Given the description of an element on the screen output the (x, y) to click on. 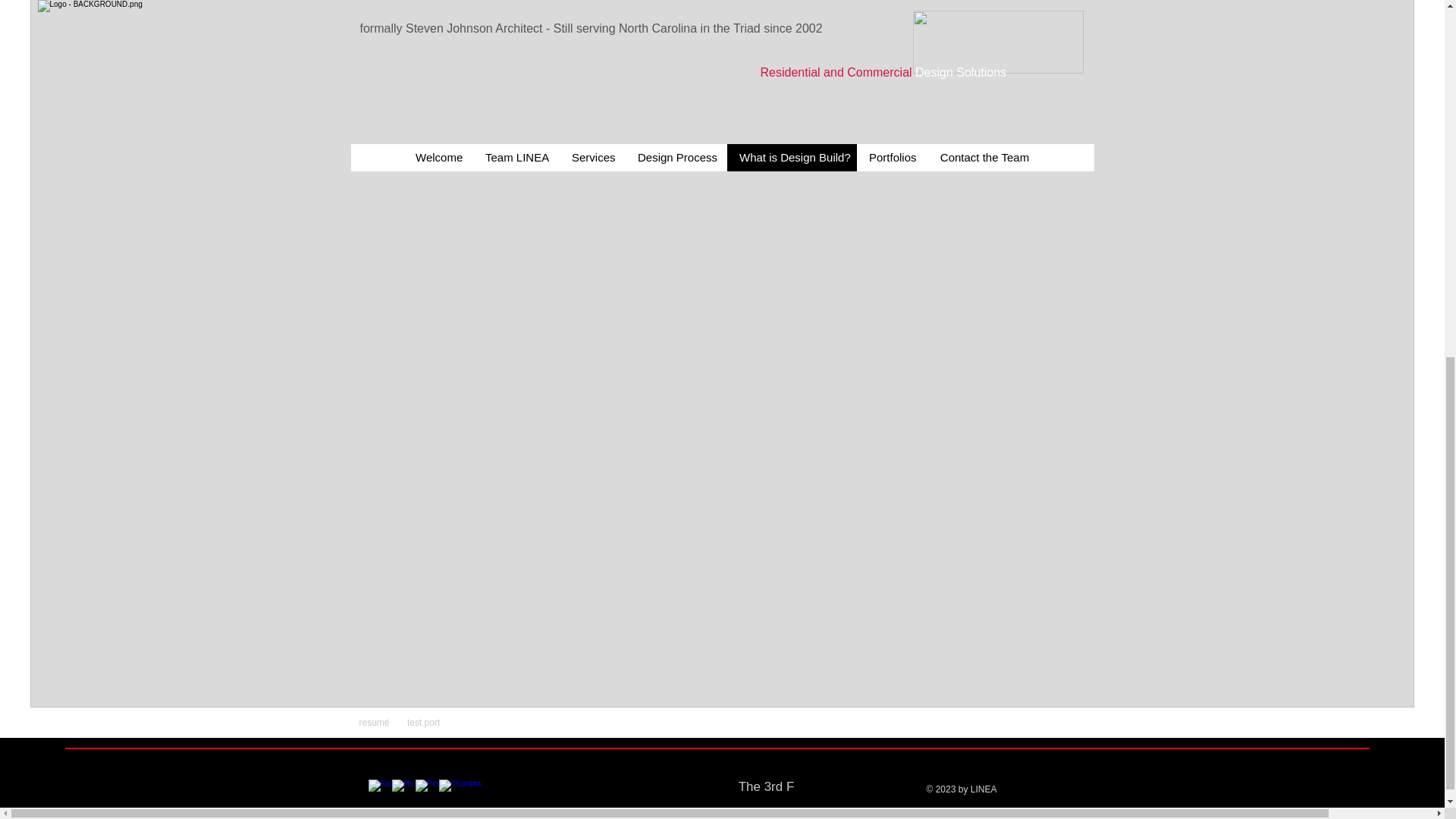
test port (423, 722)
The 3rd F (766, 786)
